Given the description of an element on the screen output the (x, y) to click on. 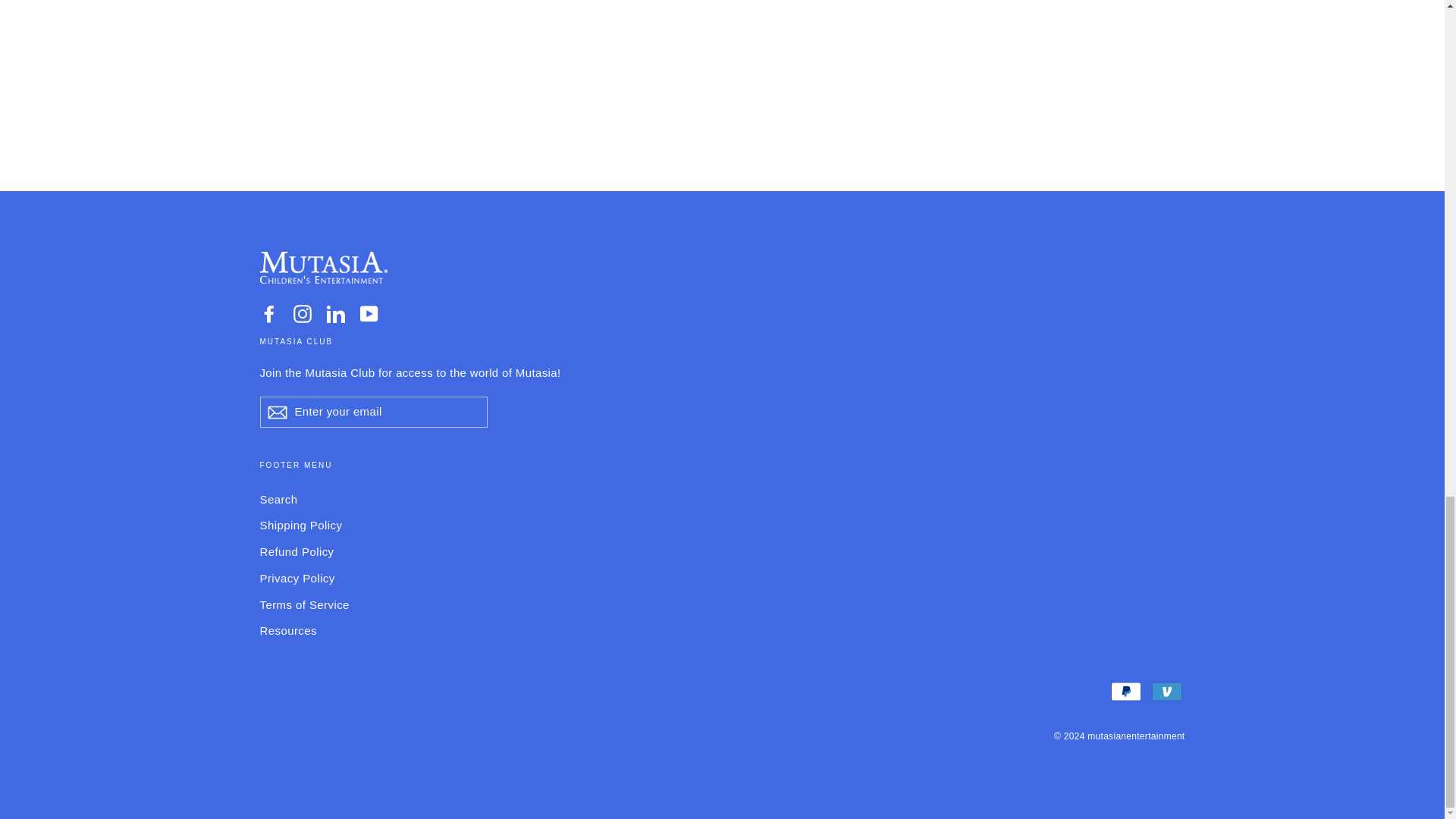
mutasianentertainment on Facebook (268, 312)
mutasianentertainment on YouTube (368, 312)
Venmo (1165, 691)
PayPal (1125, 691)
mutasianentertainment on LinkedIn (335, 312)
mutasianentertainment on Instagram (302, 312)
